Given the description of an element on the screen output the (x, y) to click on. 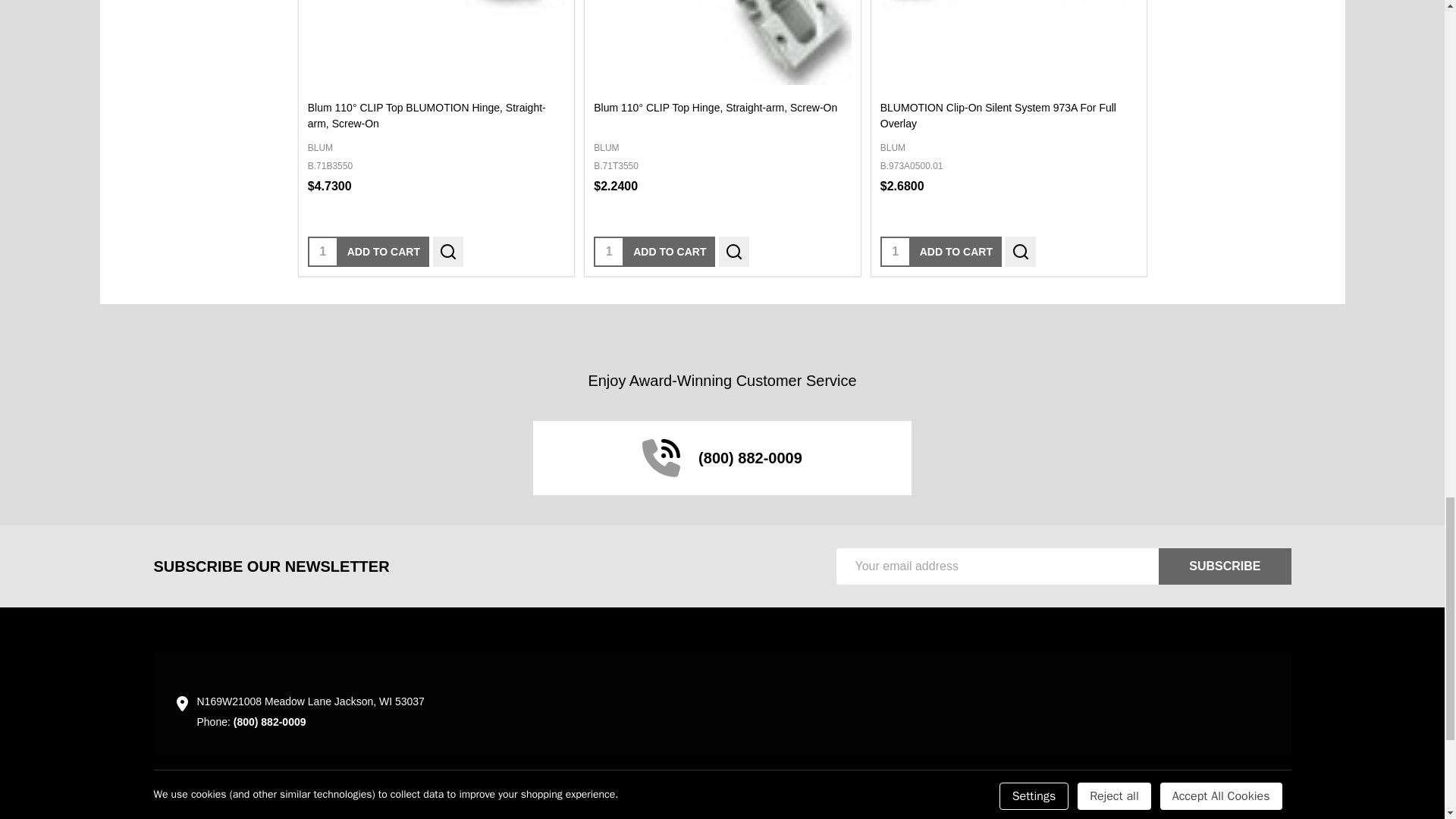
1 (609, 251)
1 (894, 251)
1 (322, 251)
